Given the description of an element on the screen output the (x, y) to click on. 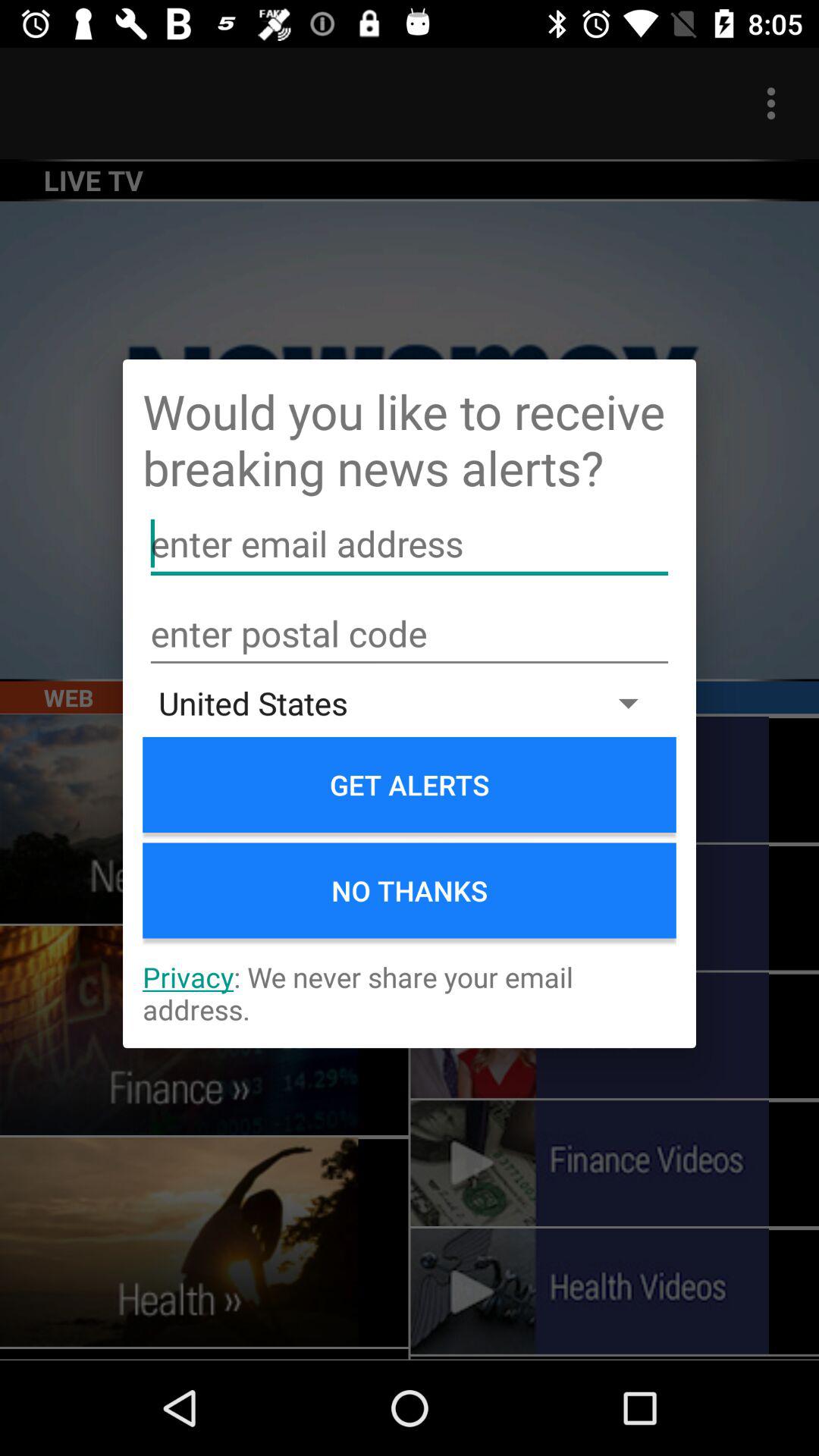
enter postal code (409, 634)
